Given the description of an element on the screen output the (x, y) to click on. 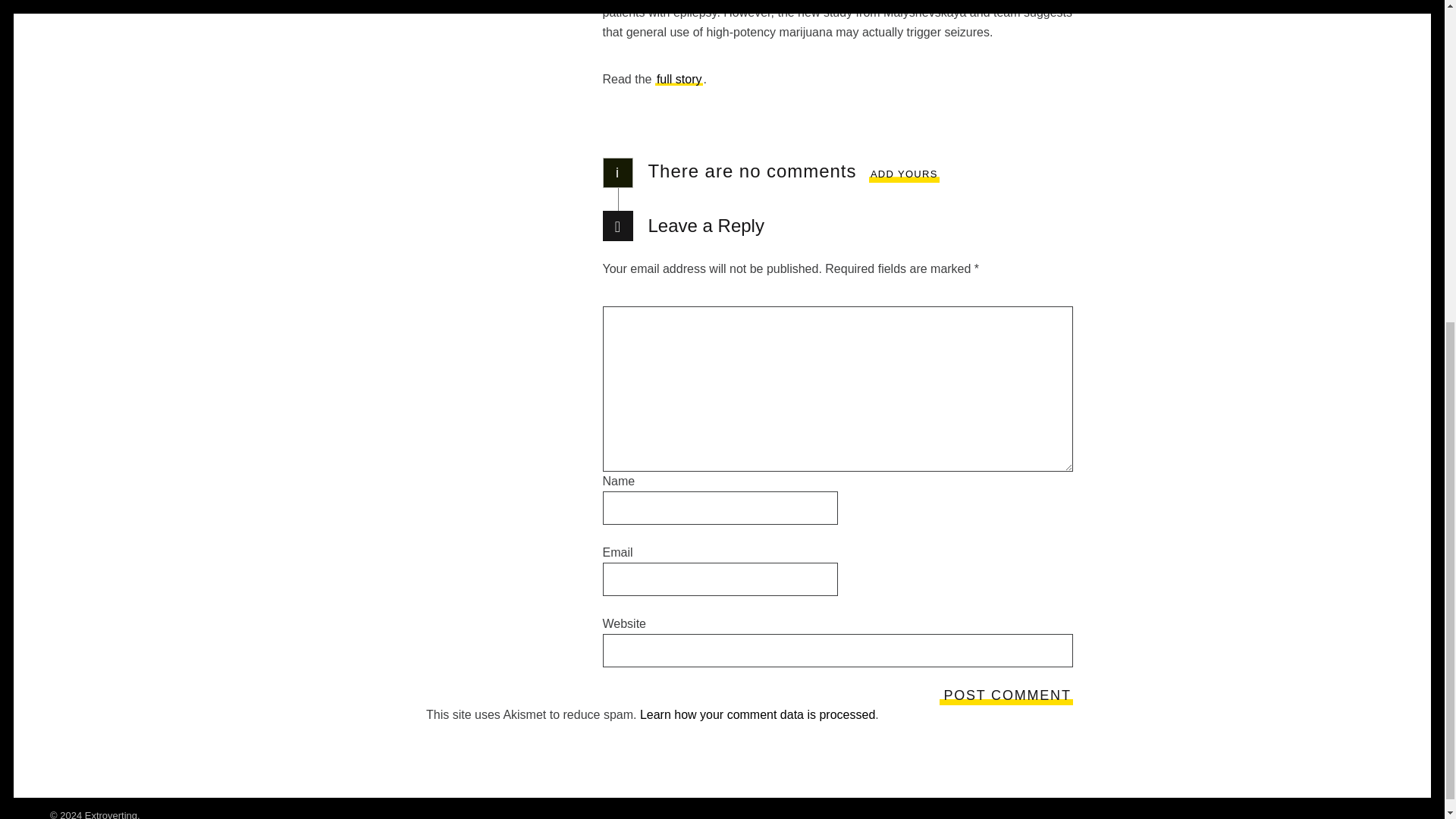
Post Comment (1005, 695)
ADD YOURS (904, 174)
Post Comment (1005, 695)
full story (679, 78)
Learn how your comment data is processed (757, 714)
